Given the description of an element on the screen output the (x, y) to click on. 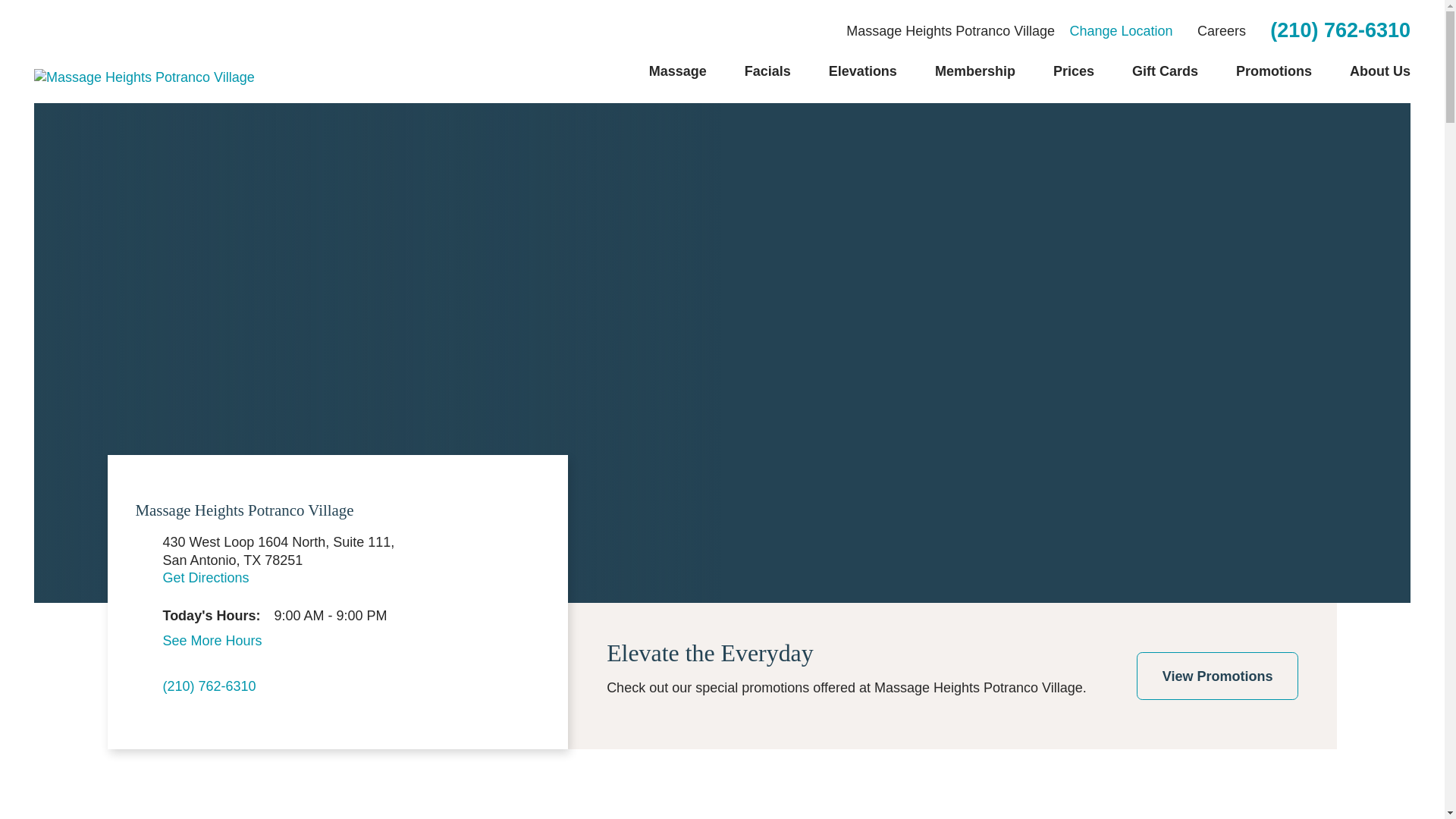
Promotions (1273, 71)
Change Location (1120, 29)
Membership (974, 71)
Facebook (490, 692)
Gift Cards (1165, 71)
Instagram (451, 692)
Home (143, 77)
Prices (1073, 71)
Careers (1221, 30)
LinkedIn (530, 692)
